Given the description of an element on the screen output the (x, y) to click on. 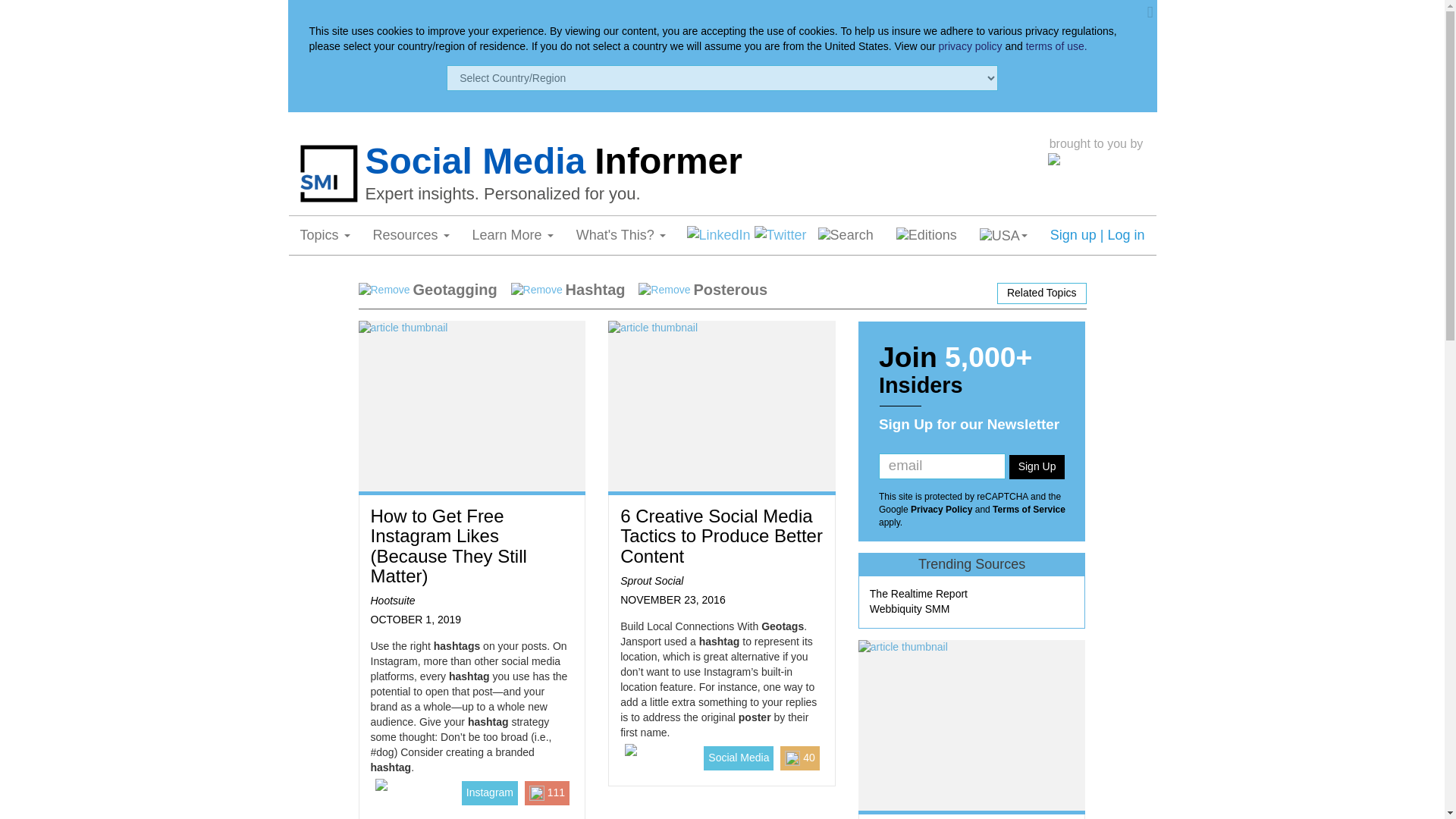
Social Media Informer (703, 161)
Share this (780, 234)
Share this (719, 234)
privacy policy (971, 46)
Select edition (926, 234)
terms of use. (1056, 46)
Social Media Strategies Summit (1096, 182)
Search (845, 234)
Select your country (1003, 235)
